Given the description of an element on the screen output the (x, y) to click on. 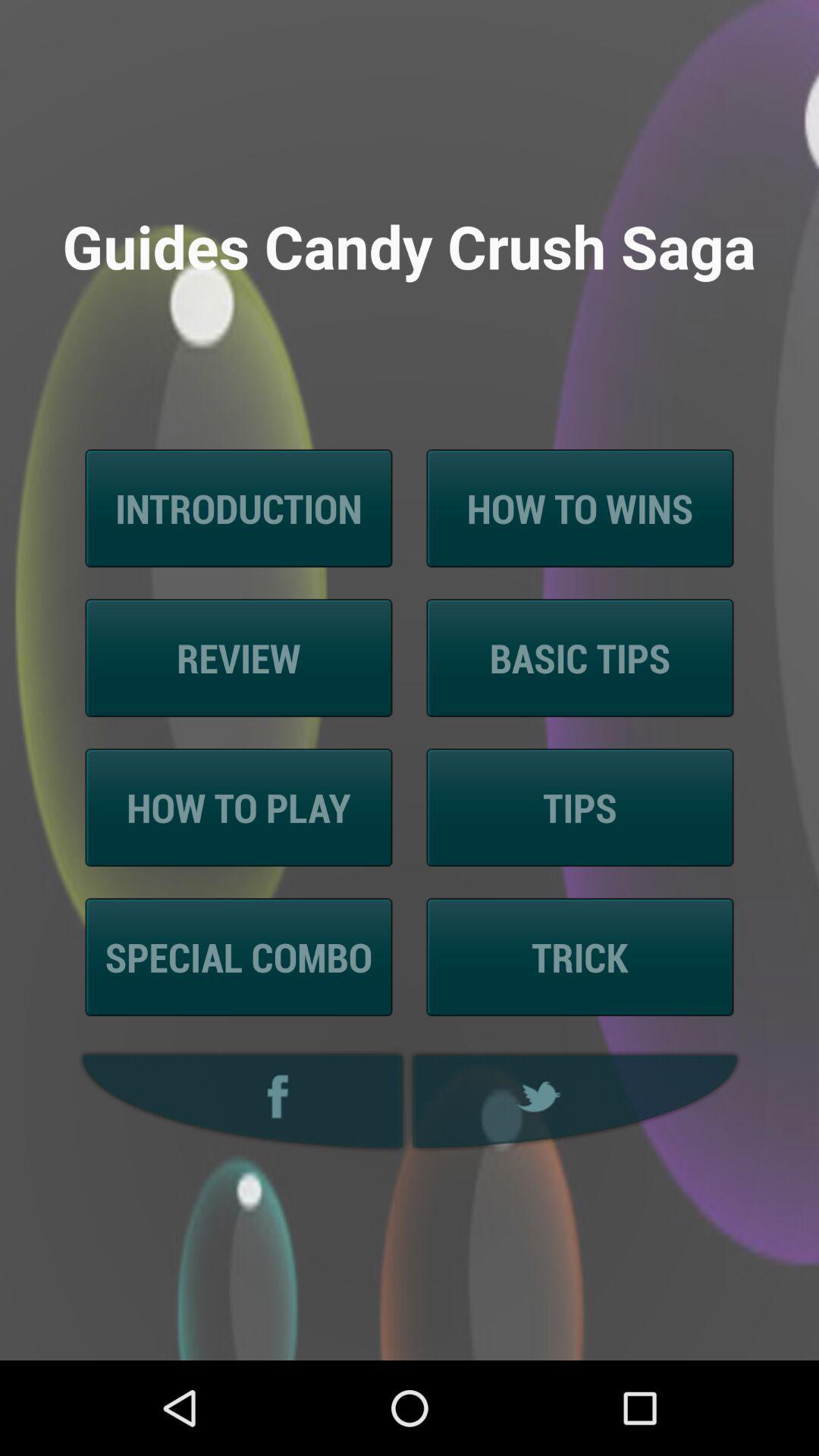
jump to the basic tips icon (579, 657)
